Given the description of an element on the screen output the (x, y) to click on. 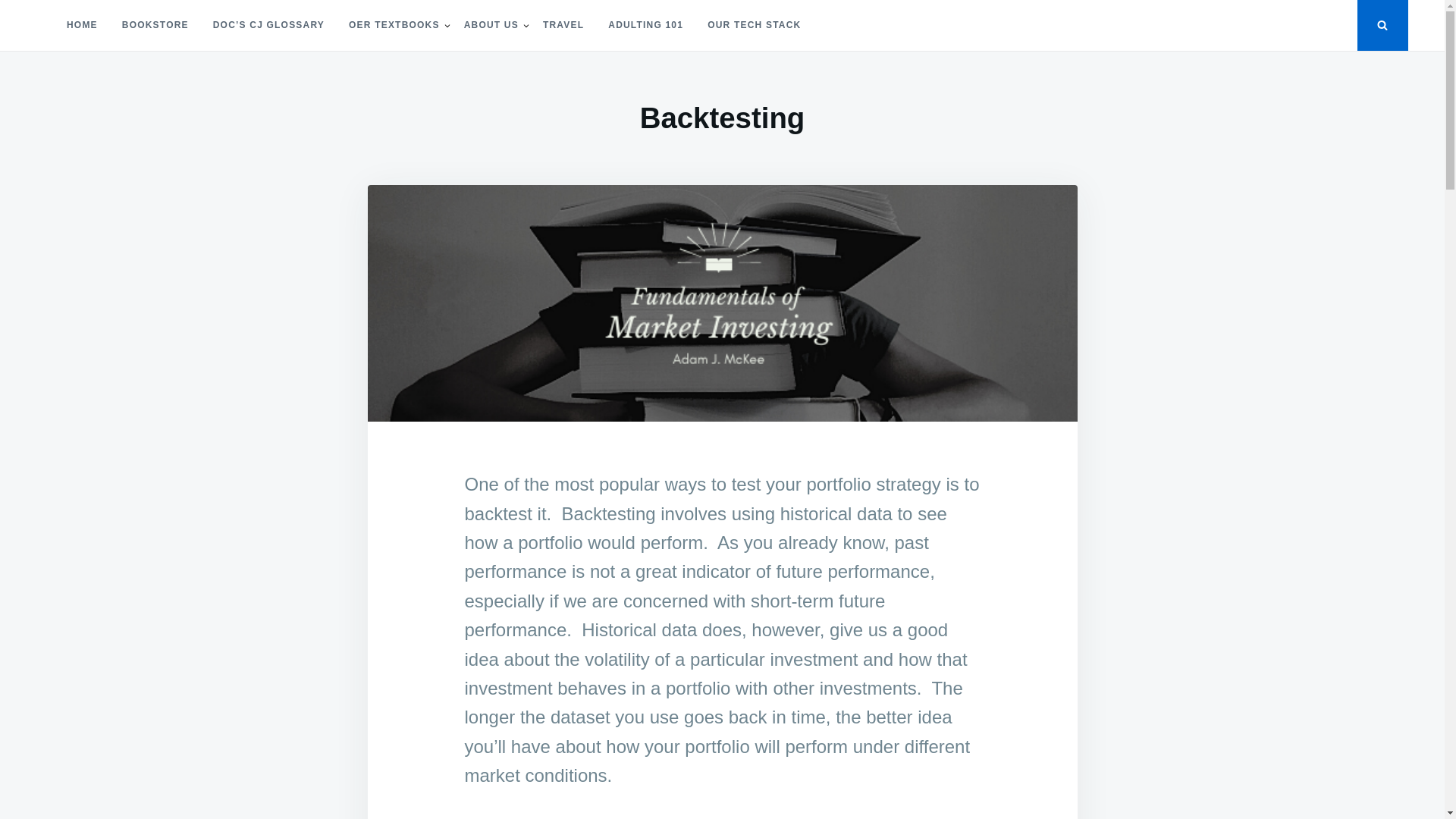
BOOKSTORE (155, 25)
OER TEXTBOOKS (393, 25)
HOME (82, 25)
ABOUT US (491, 25)
